Given the description of an element on the screen output the (x, y) to click on. 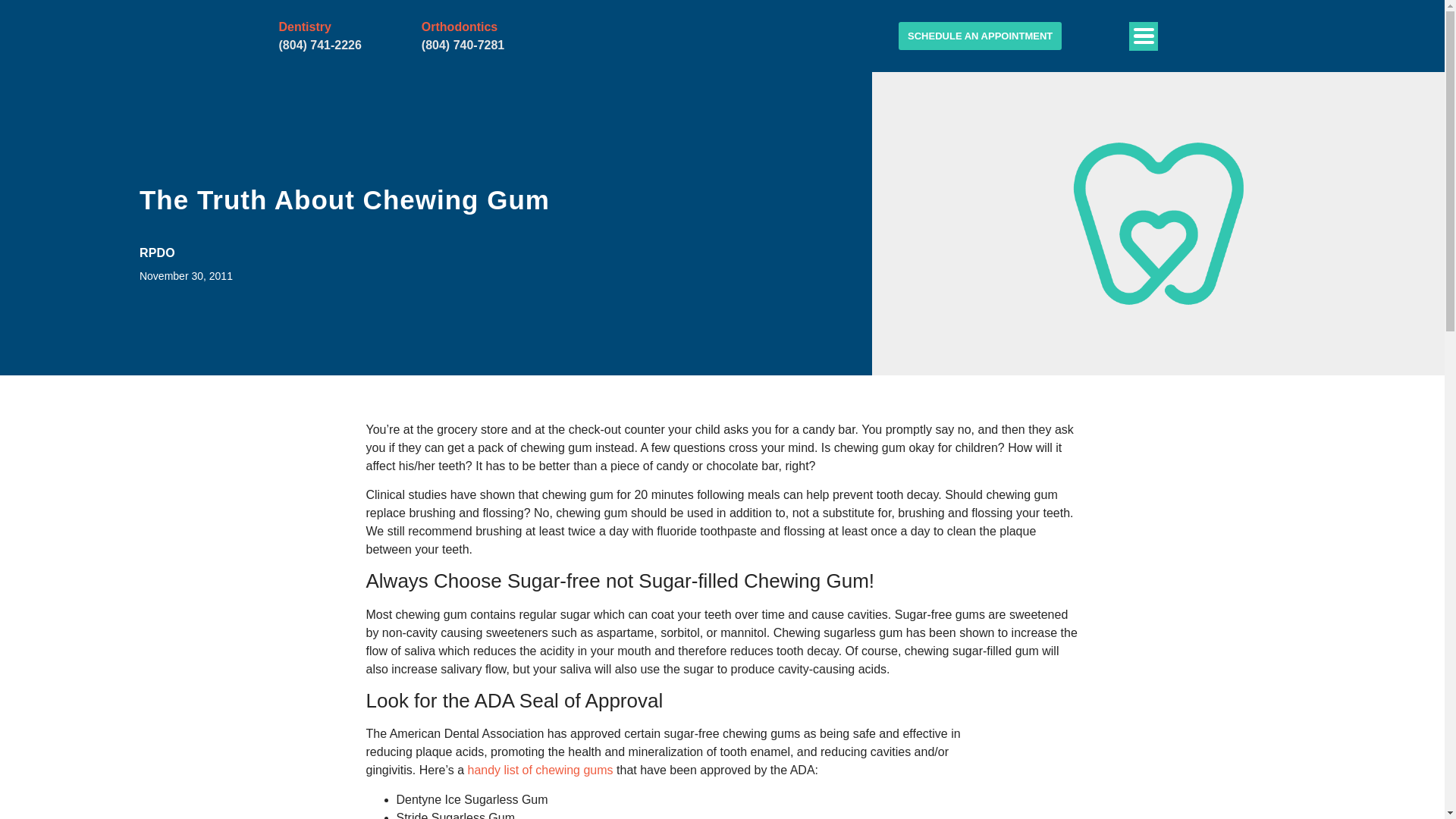
ADA Seal of Approval (1044, 723)
SCHEDULE AN APPOINTMENT (979, 35)
handy list of chewing gums (539, 769)
